Given the description of an element on the screen output the (x, y) to click on. 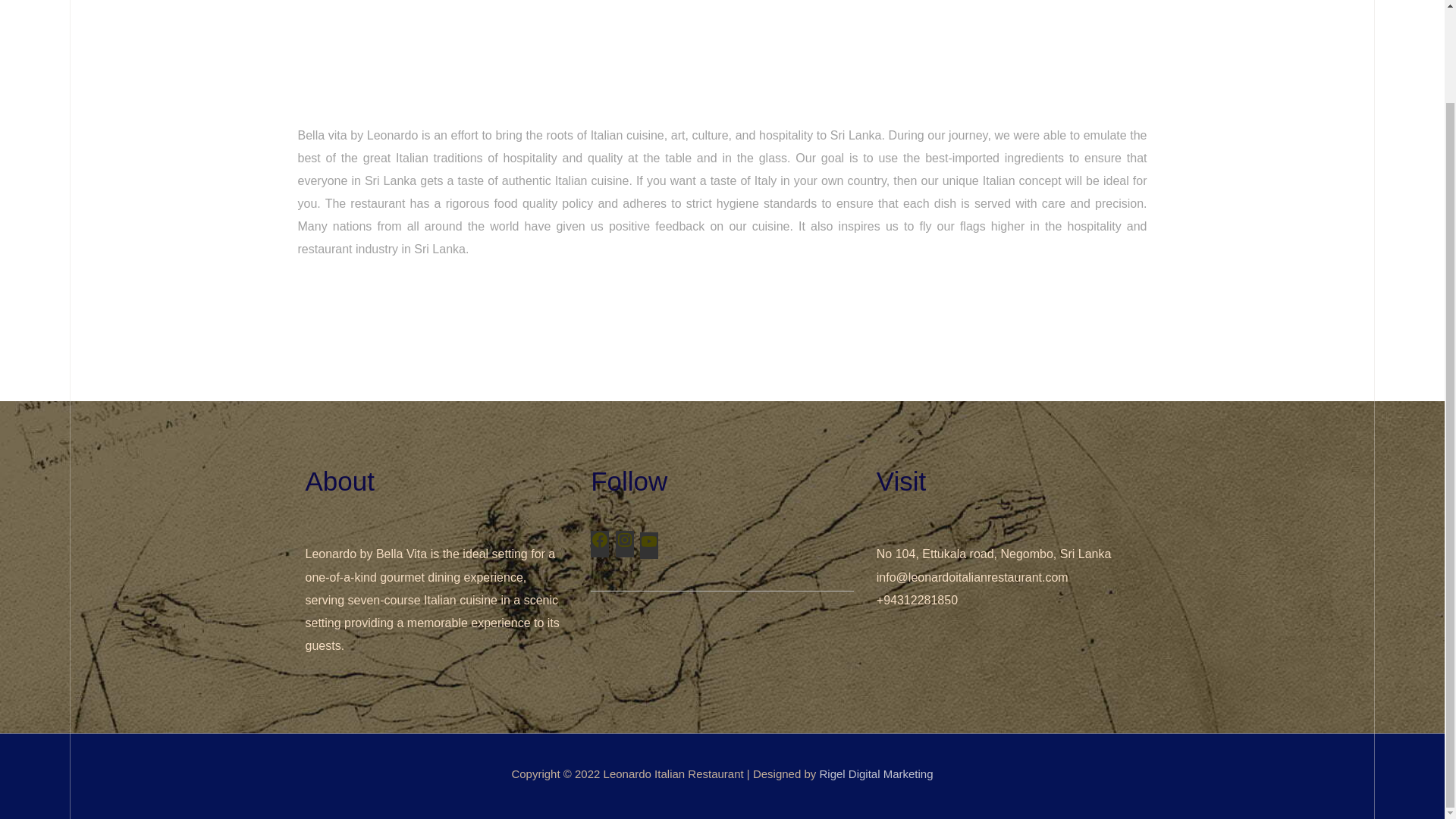
Rigel Digital Marketing (875, 773)
